Given the description of an element on the screen output the (x, y) to click on. 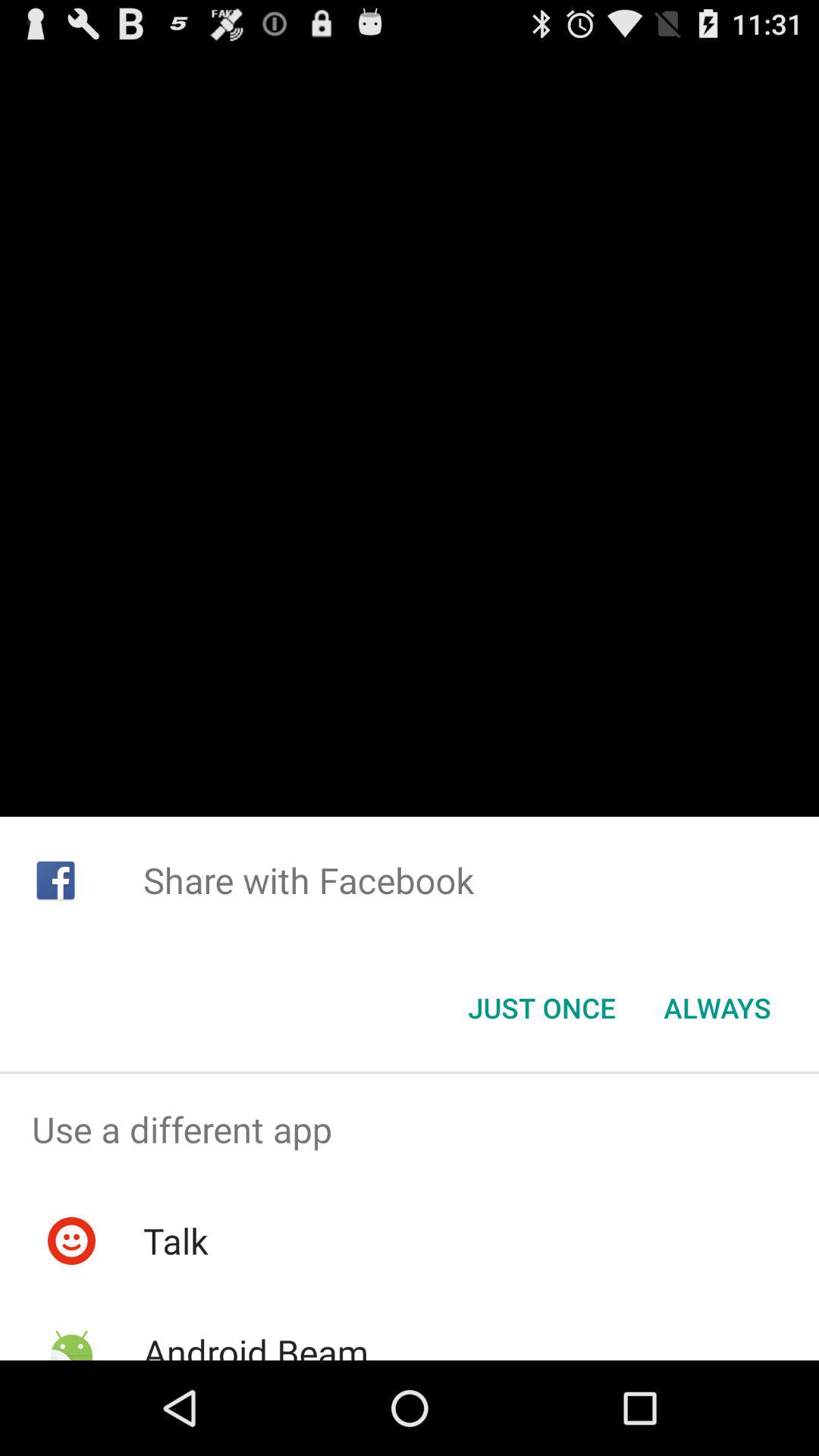
scroll until talk app (175, 1240)
